Given the description of an element on the screen output the (x, y) to click on. 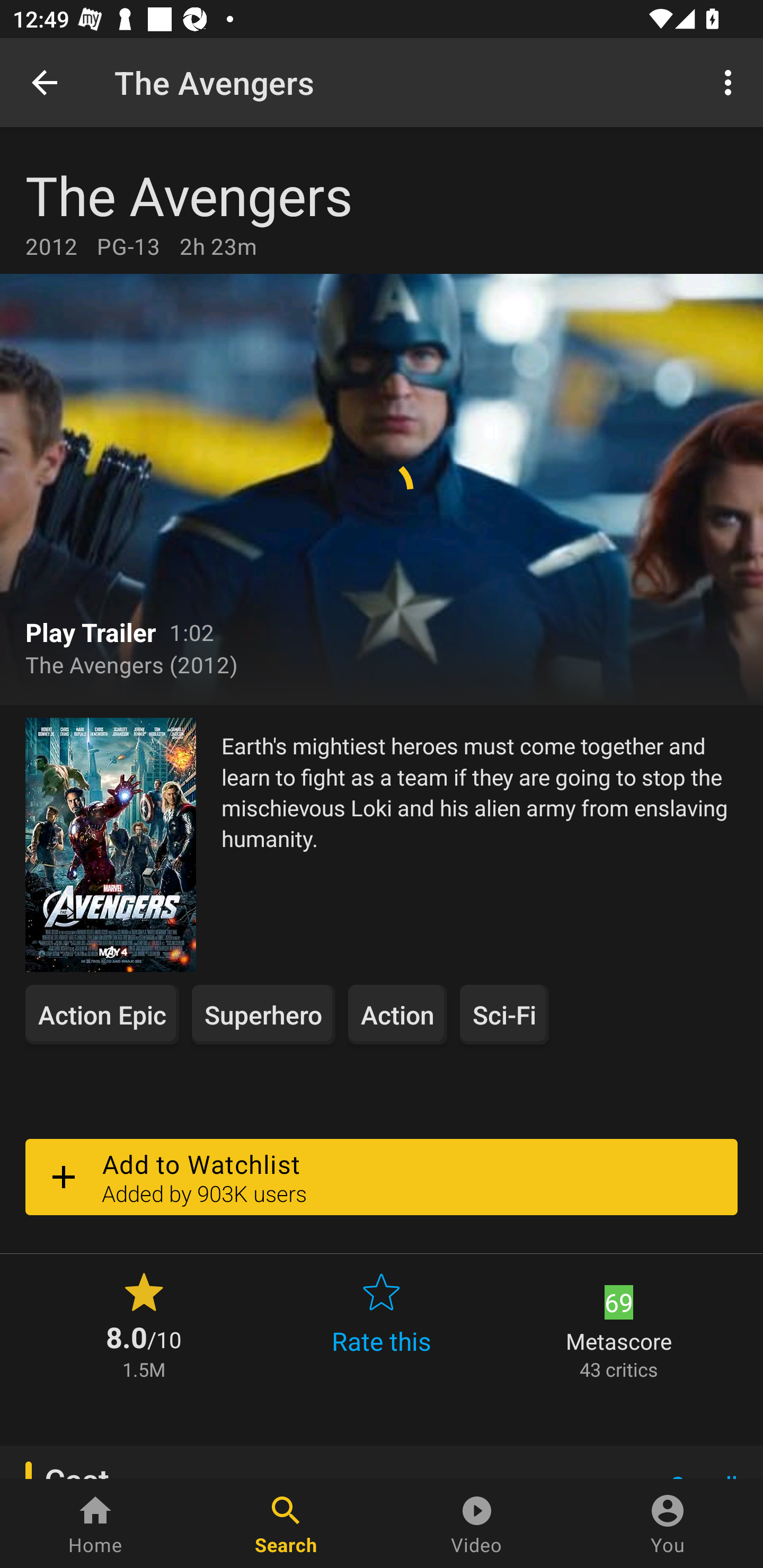
More options (731, 81)
Action Epic (102, 1014)
Superhero (263, 1014)
Action (397, 1014)
Sci-Fi (504, 1014)
Add to Watchlist Added by 903K users (381, 1176)
8.0 /10 1.5M (143, 1323)
Rate this (381, 1323)
69 Metascore 43 critics (618, 1323)
Home (95, 1523)
Video (476, 1523)
You (667, 1523)
